Given the description of an element on the screen output the (x, y) to click on. 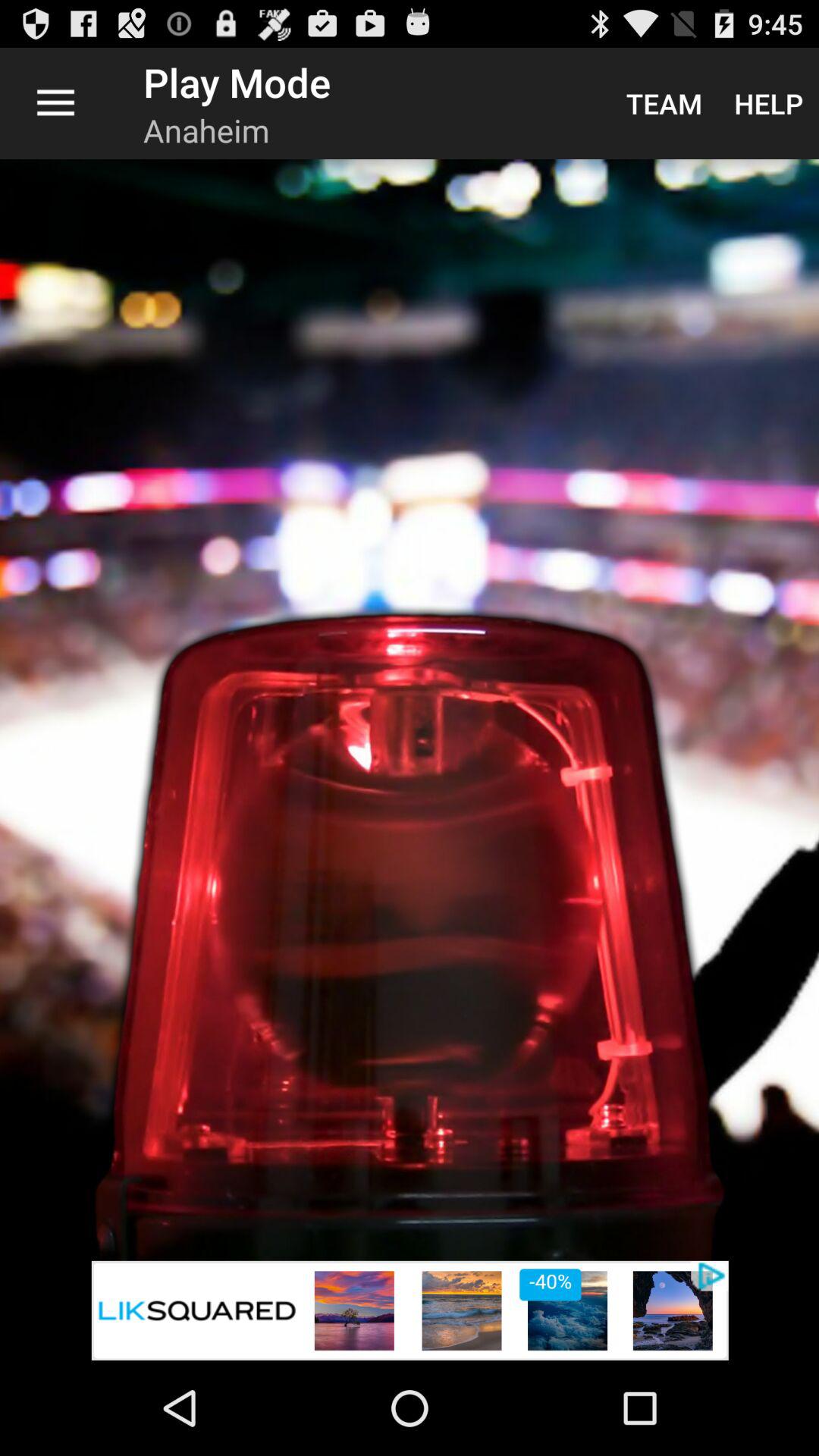
turn on the icon to the right of play mode icon (664, 103)
